Given the description of an element on the screen output the (x, y) to click on. 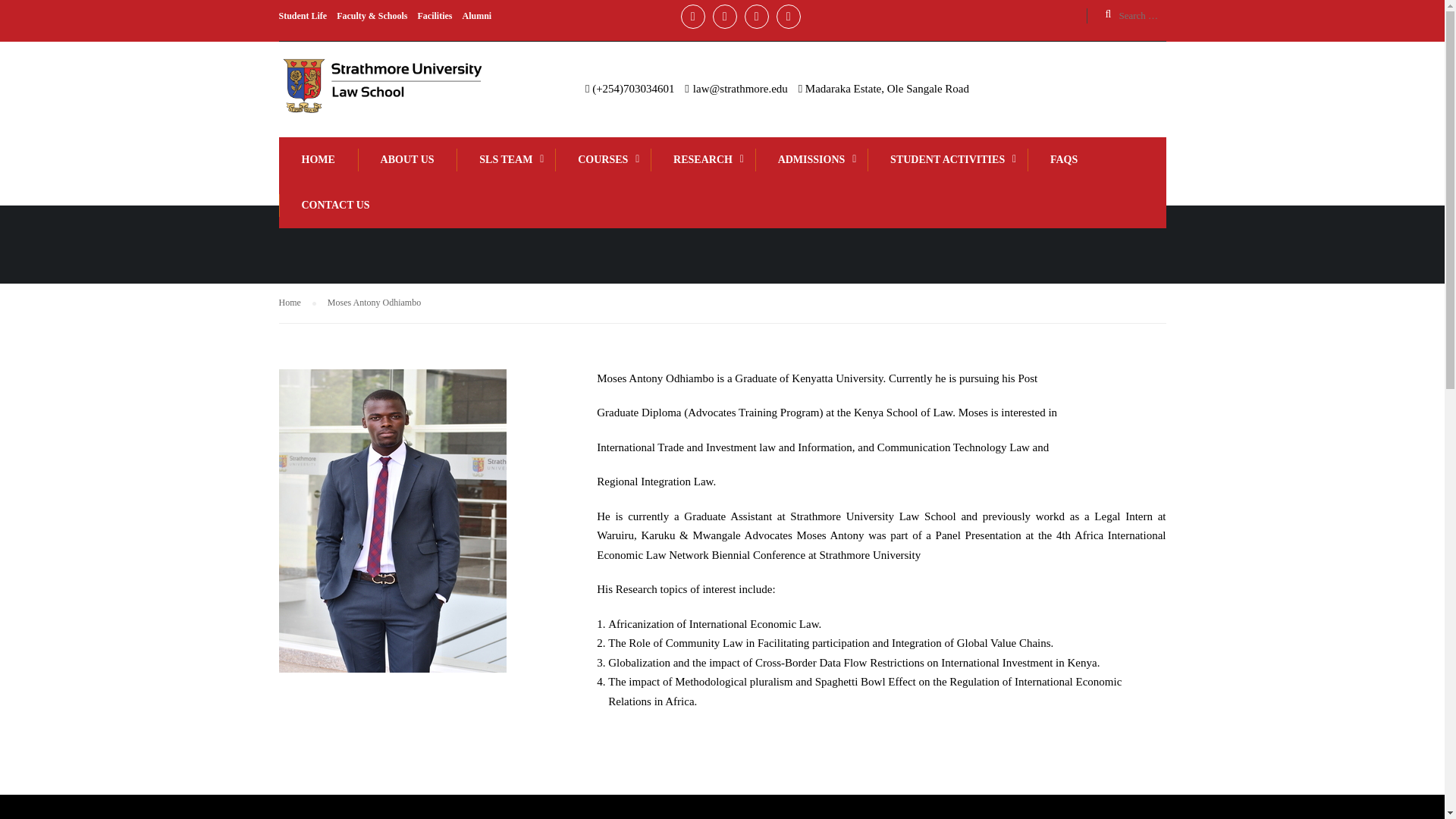
sls - Law School (381, 85)
Moses Antony Odhiambo (373, 302)
Alumni (477, 15)
Facilities (434, 15)
Home (297, 302)
Student Life (303, 15)
